Given the description of an element on the screen output the (x, y) to click on. 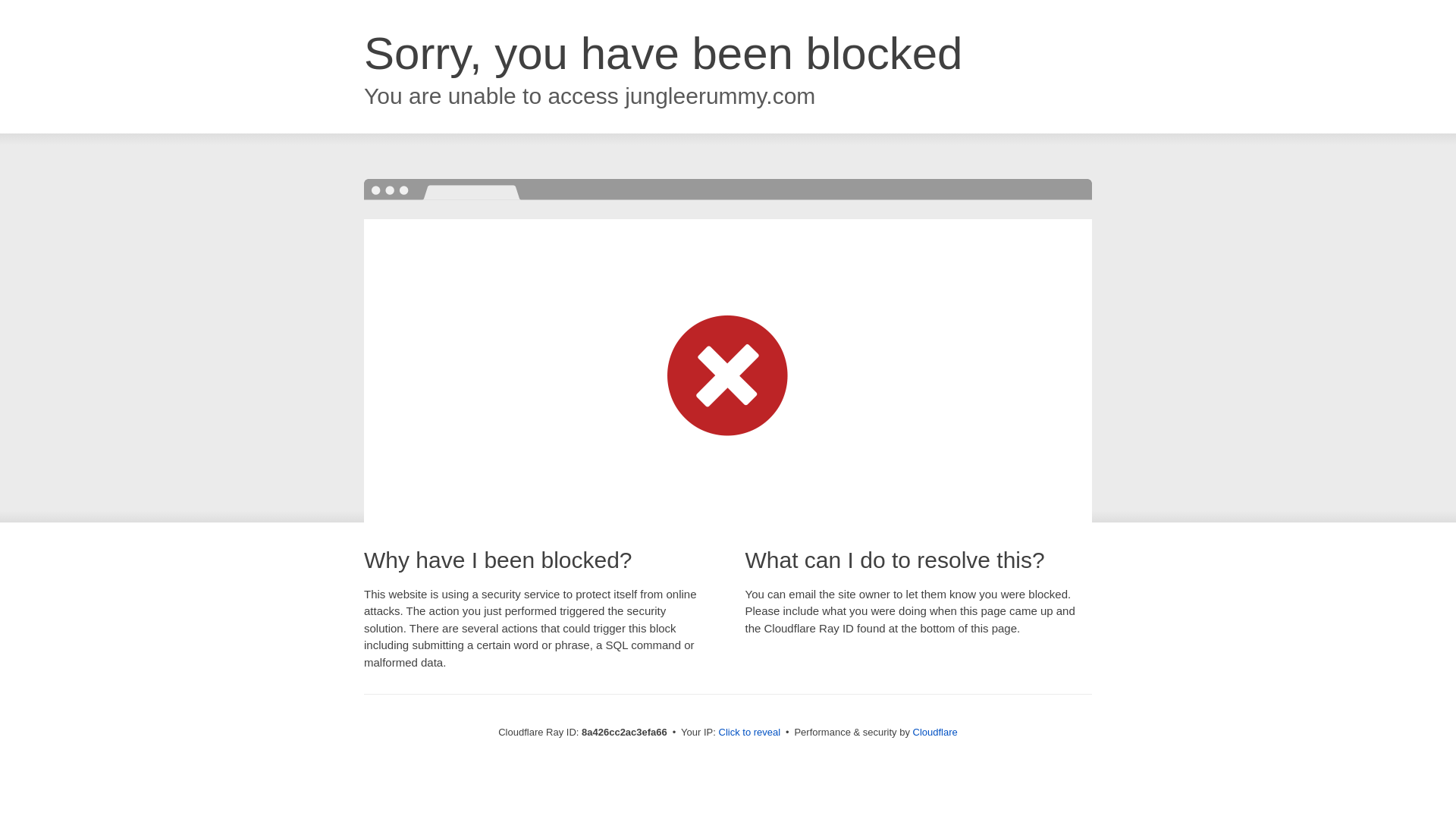
Cloudflare (935, 731)
Click to reveal (749, 732)
